Given the description of an element on the screen output the (x, y) to click on. 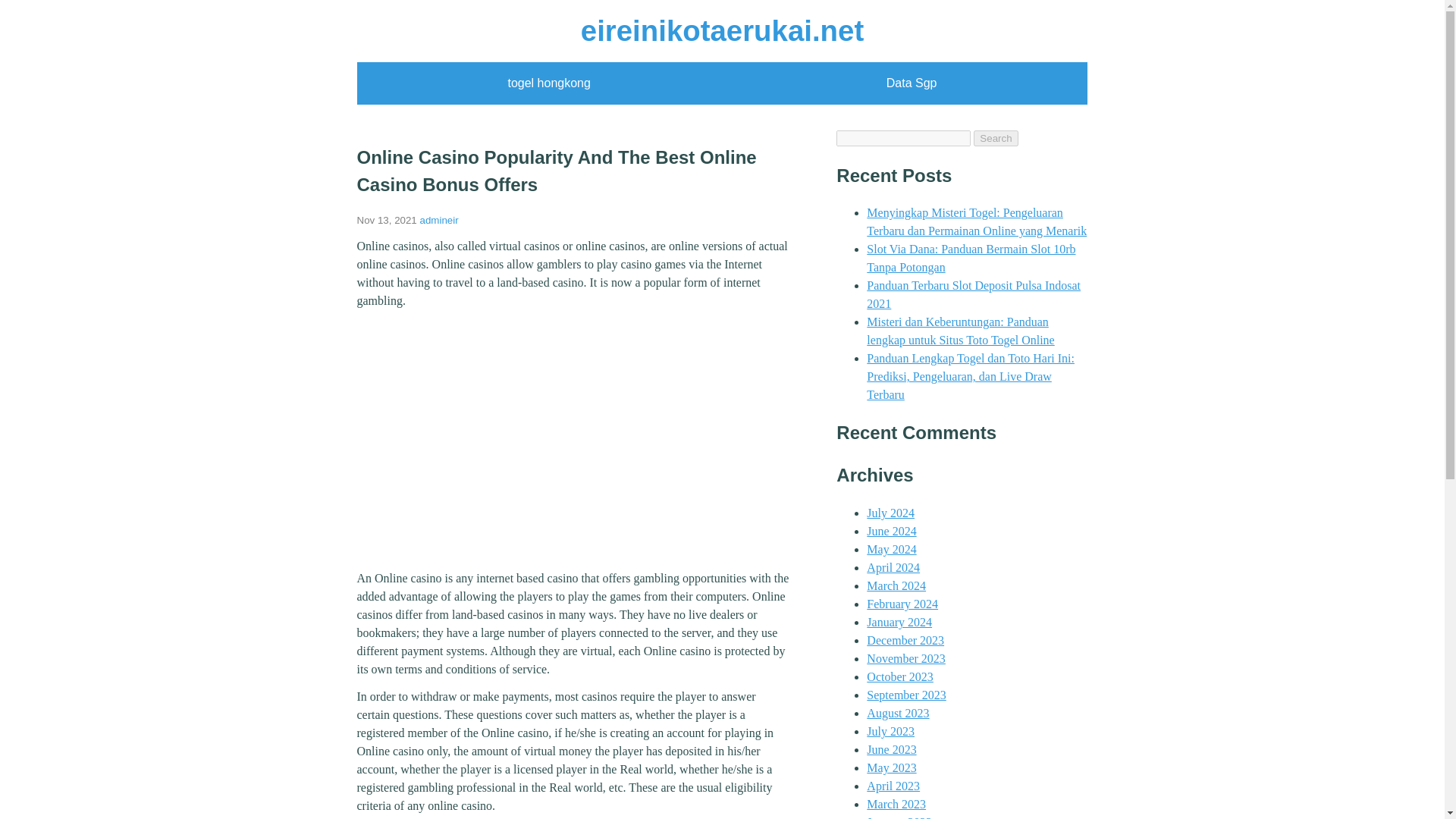
Slot Via Dana: Panduan Bermain Slot 10rb Tanpa Potongan (970, 257)
July 2023 (890, 730)
admineir (439, 220)
July 2024 (890, 512)
Panduan Terbaru Slot Deposit Pulsa Indosat 2021 (973, 294)
May 2023 (890, 767)
togel hongkong (547, 82)
April 2024 (893, 567)
March 2023 (896, 803)
January 2023 (898, 817)
November 2023 (905, 658)
January 2024 (898, 621)
February 2024 (901, 603)
Search (995, 138)
